Given the description of an element on the screen output the (x, y) to click on. 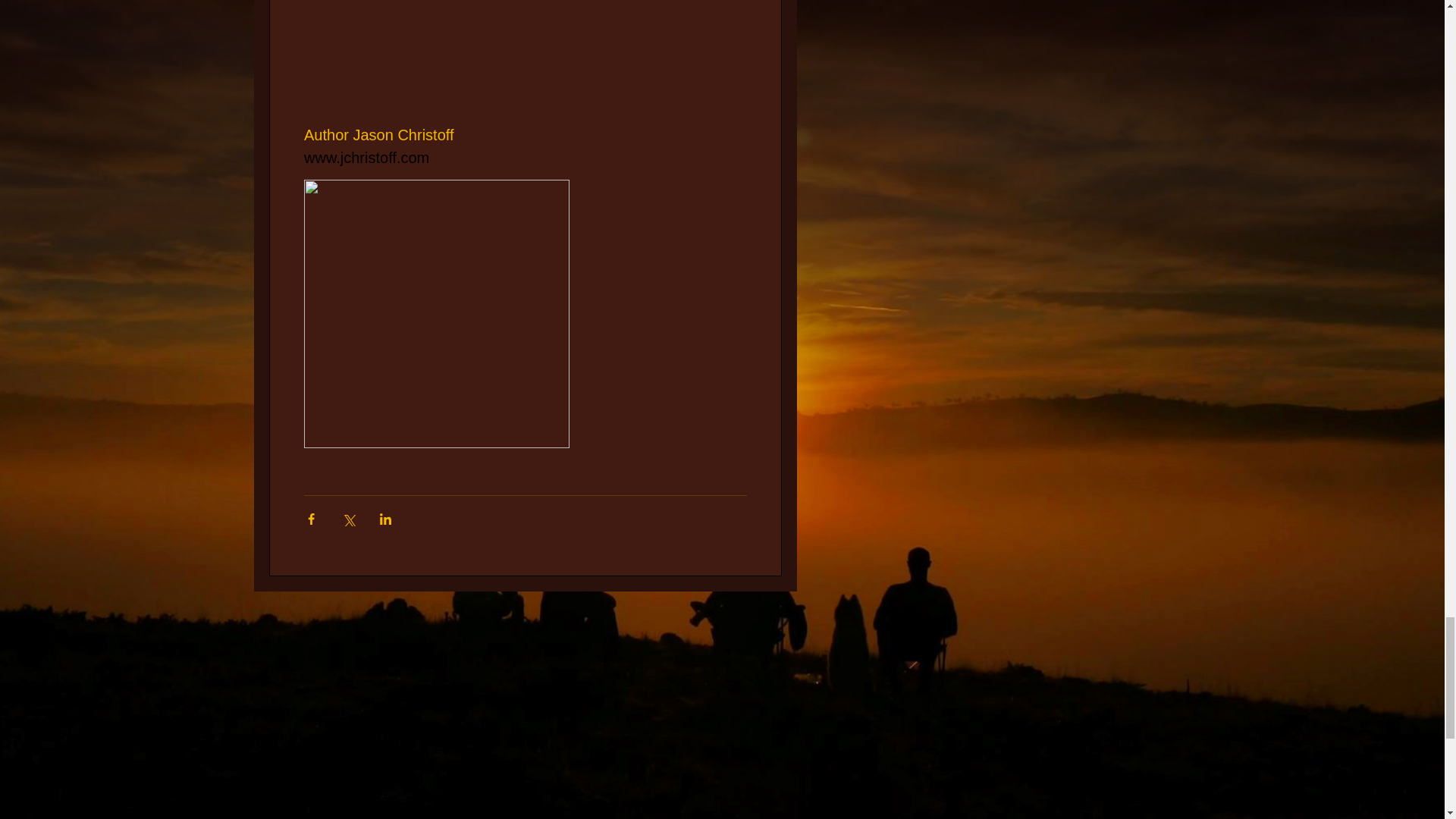
External YouTube (725, 708)
www.jchristoff.com (365, 156)
